Given the description of an element on the screen output the (x, y) to click on. 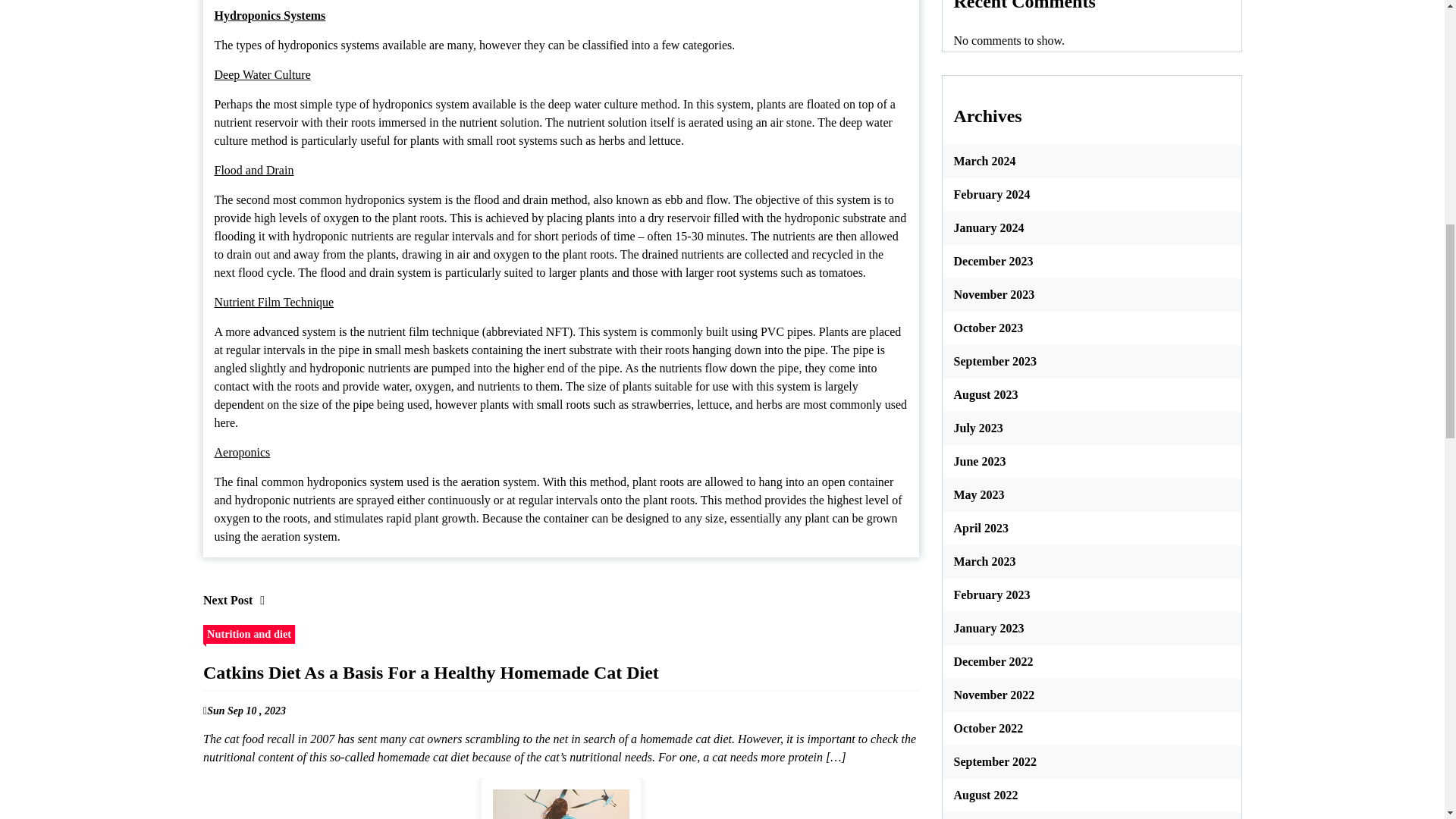
Catkins Diet As a Basis For a Healthy Homemade Cat Diet (560, 798)
